Given the description of an element on the screen output the (x, y) to click on. 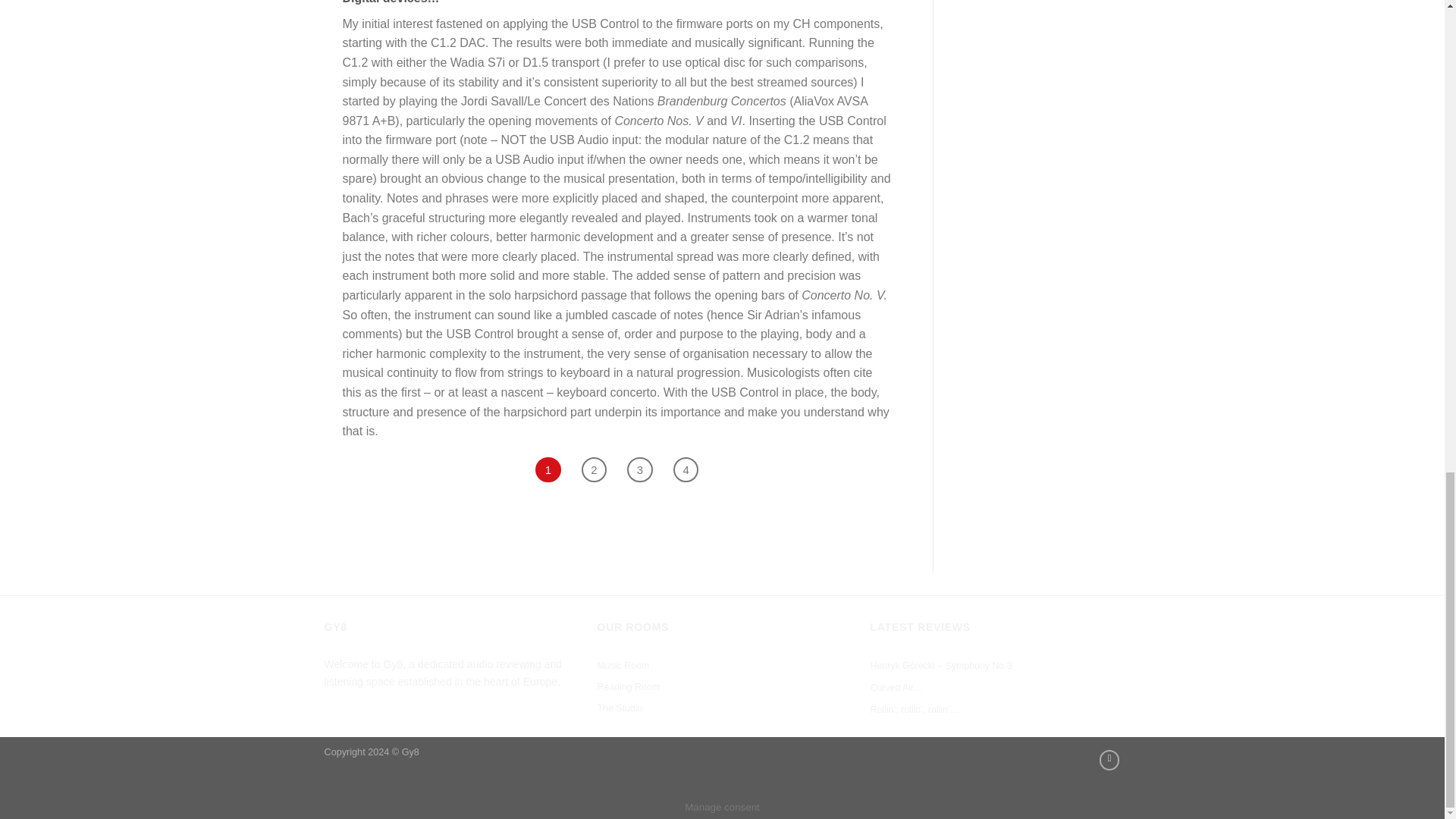
Follow on Facebook (1109, 760)
3 (639, 470)
Reading Room (627, 687)
2 (593, 470)
The Studio (619, 708)
Music Room (622, 666)
4 (685, 470)
